Given the description of an element on the screen output the (x, y) to click on. 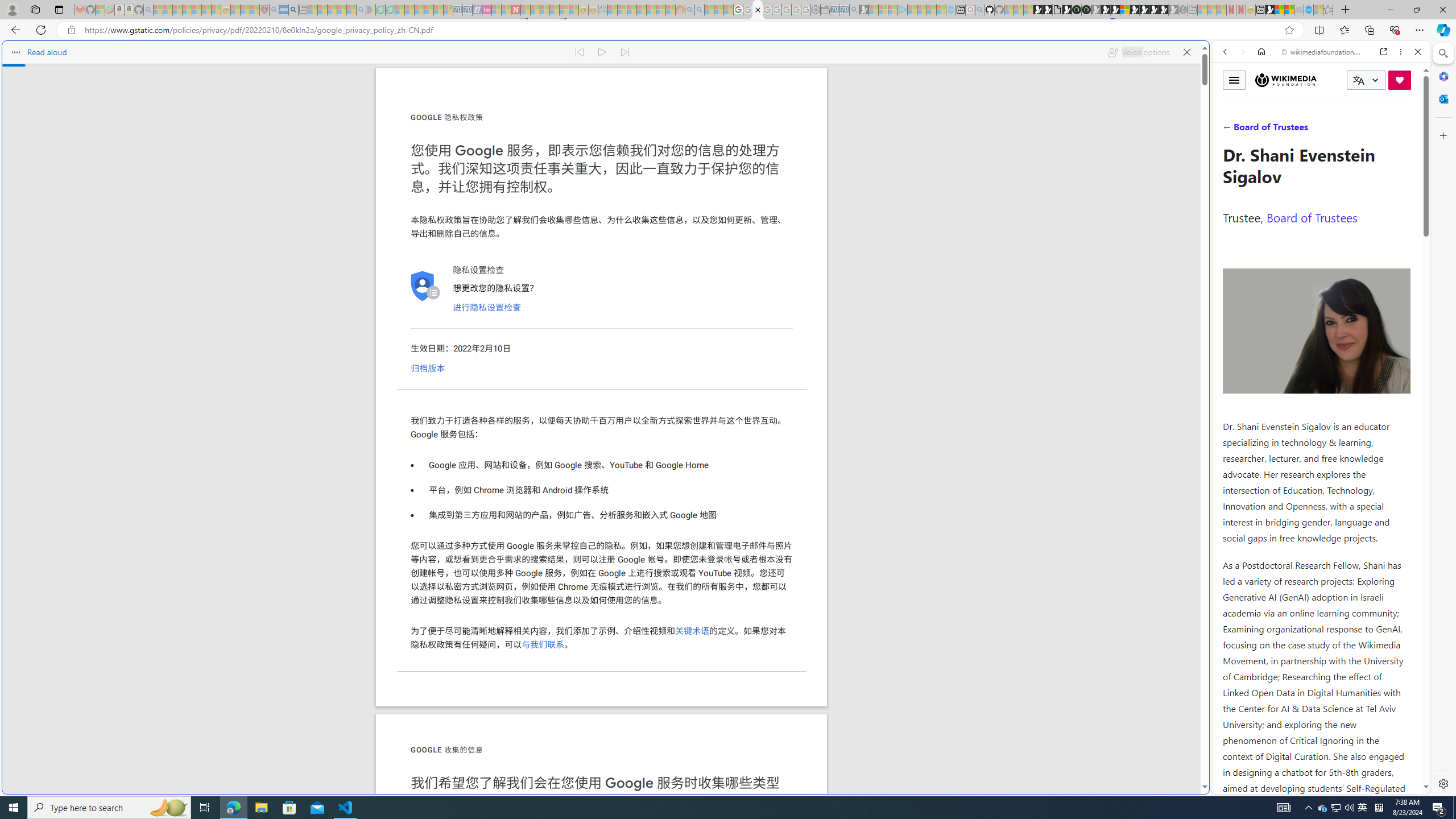
Play Zoo Boom in your browser | Games from Microsoft Start (1047, 9)
Copilot (Ctrl+Shift+.) (1442, 29)
Refresh (40, 29)
Side bar (1443, 418)
This site scope (1259, 102)
Search Filter, WEB (1230, 129)
Close Customize pane (1442, 135)
Jobs - lastminute.com Investor Portal - Sleeping (486, 9)
Close split screen (1208, 57)
